Given the description of an element on the screen output the (x, y) to click on. 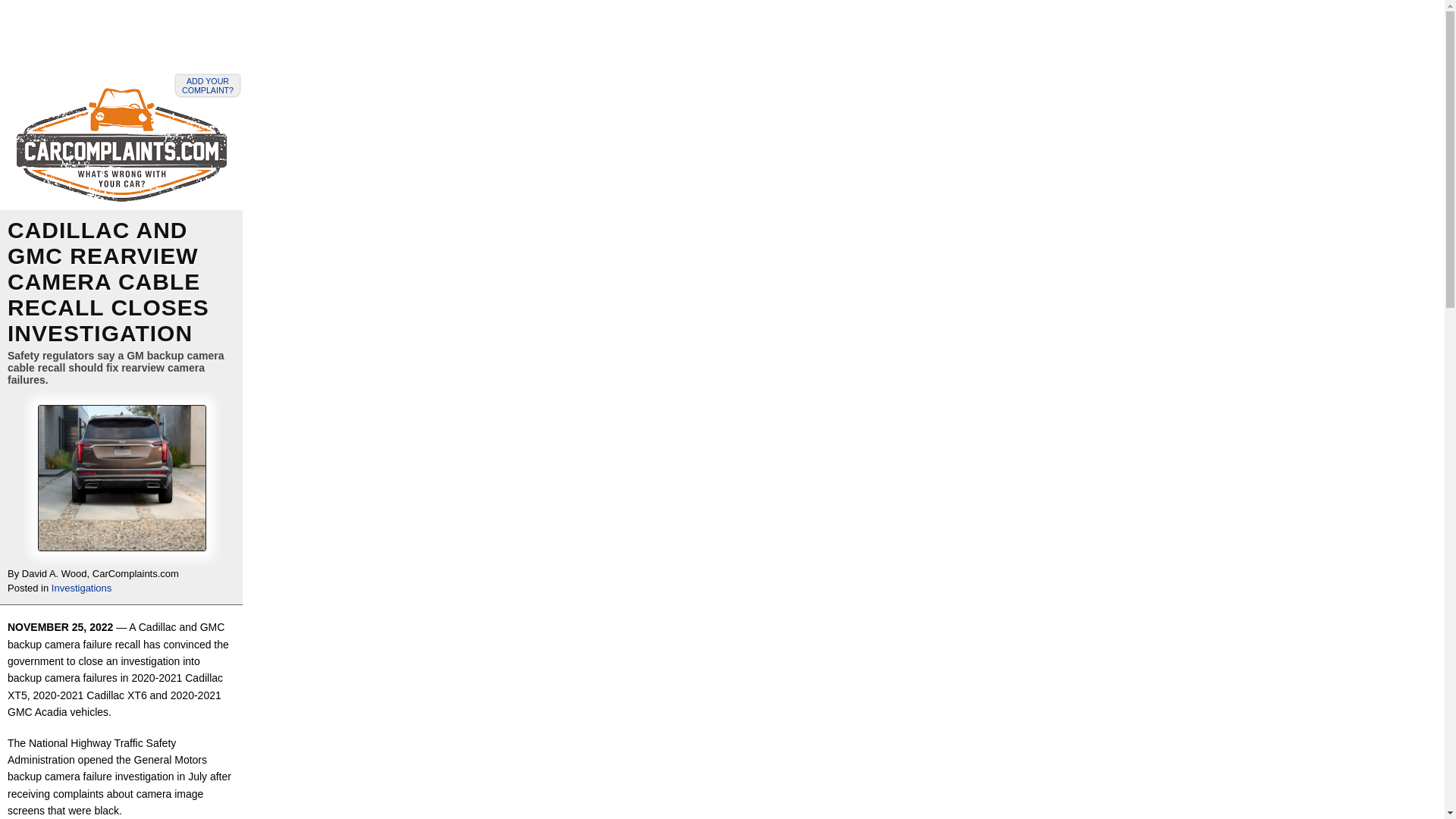
Back (29, 19)
ADD YOUR COMPLAINT? (208, 85)
Investigations (81, 587)
Problem Trends (100, 19)
Top Vehicles (189, 19)
